Given the description of an element on the screen output the (x, y) to click on. 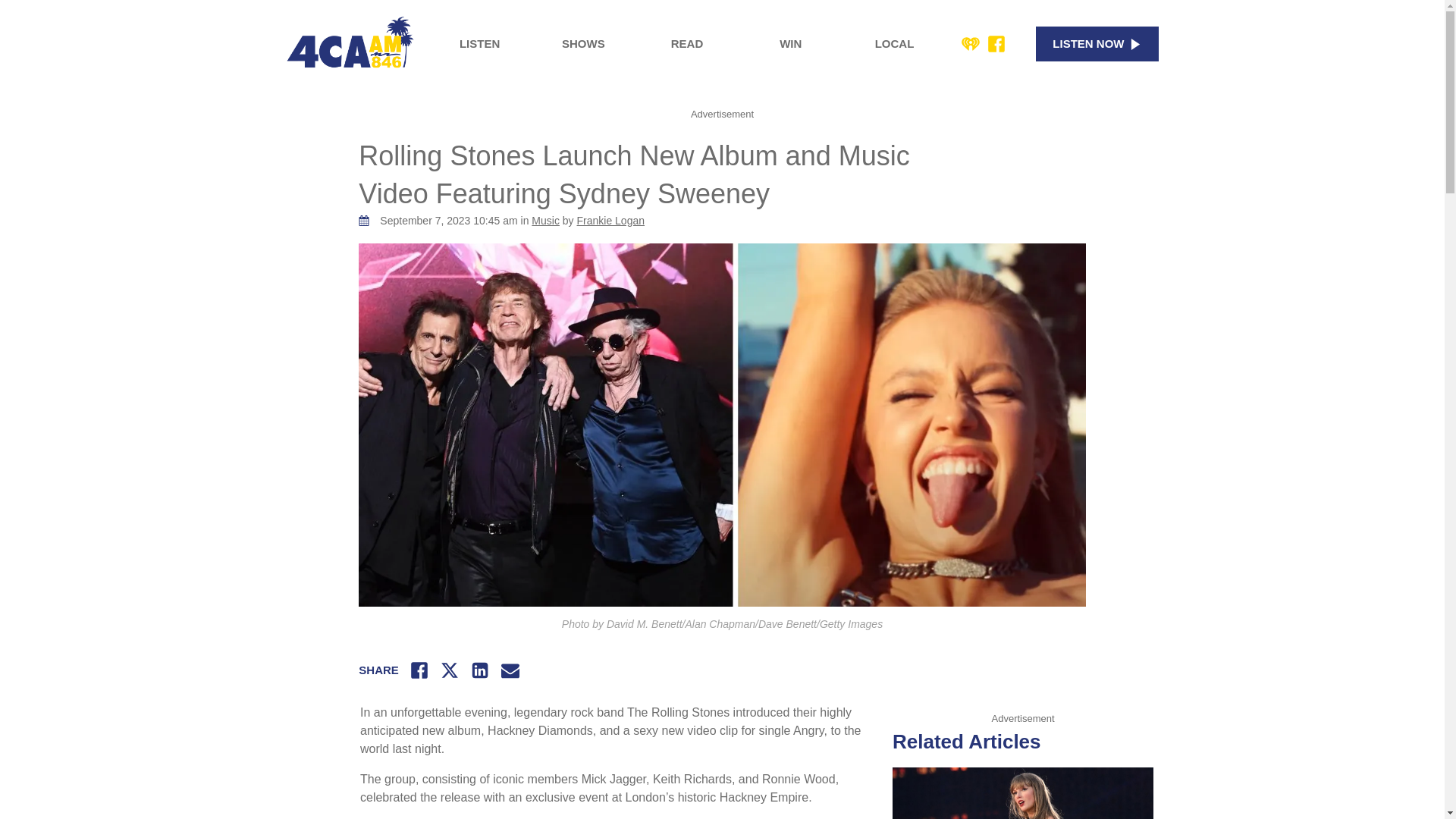
SHOWS (582, 43)
LISTEN (479, 43)
LOCAL (894, 43)
READ (686, 43)
LISTEN NOW (1096, 44)
Facebook (996, 44)
iHeart (969, 44)
Posts by Frankie Logan (610, 220)
WIN (790, 43)
